Given the description of an element on the screen output the (x, y) to click on. 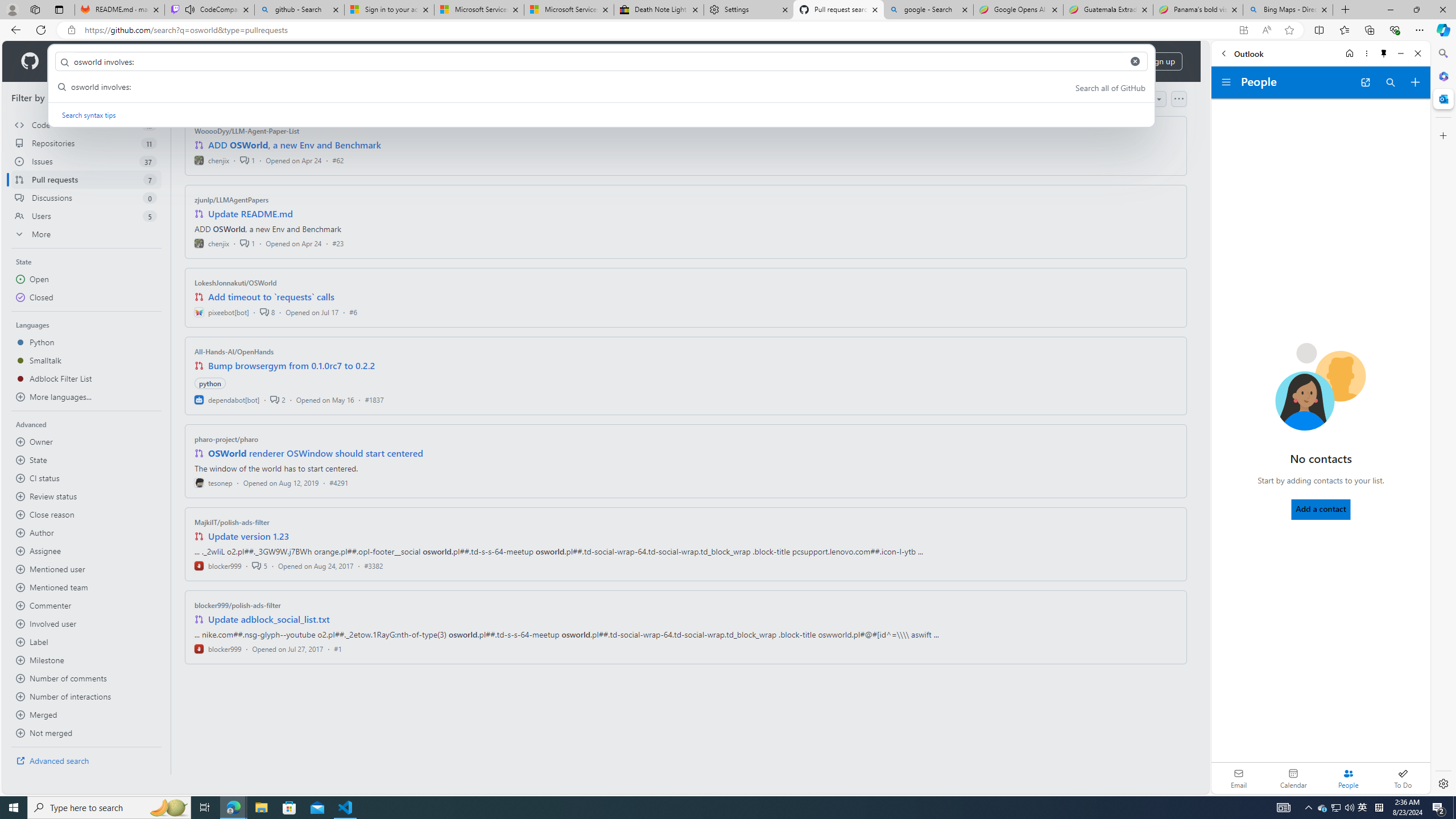
Google Opens AI Academy for Startups - Nearshore Americas (1018, 9)
1 (246, 242)
tesonep (213, 482)
blocker999/polish-ads-filter (238, 605)
#23 (337, 242)
#62 (337, 159)
